Given the description of an element on the screen output the (x, y) to click on. 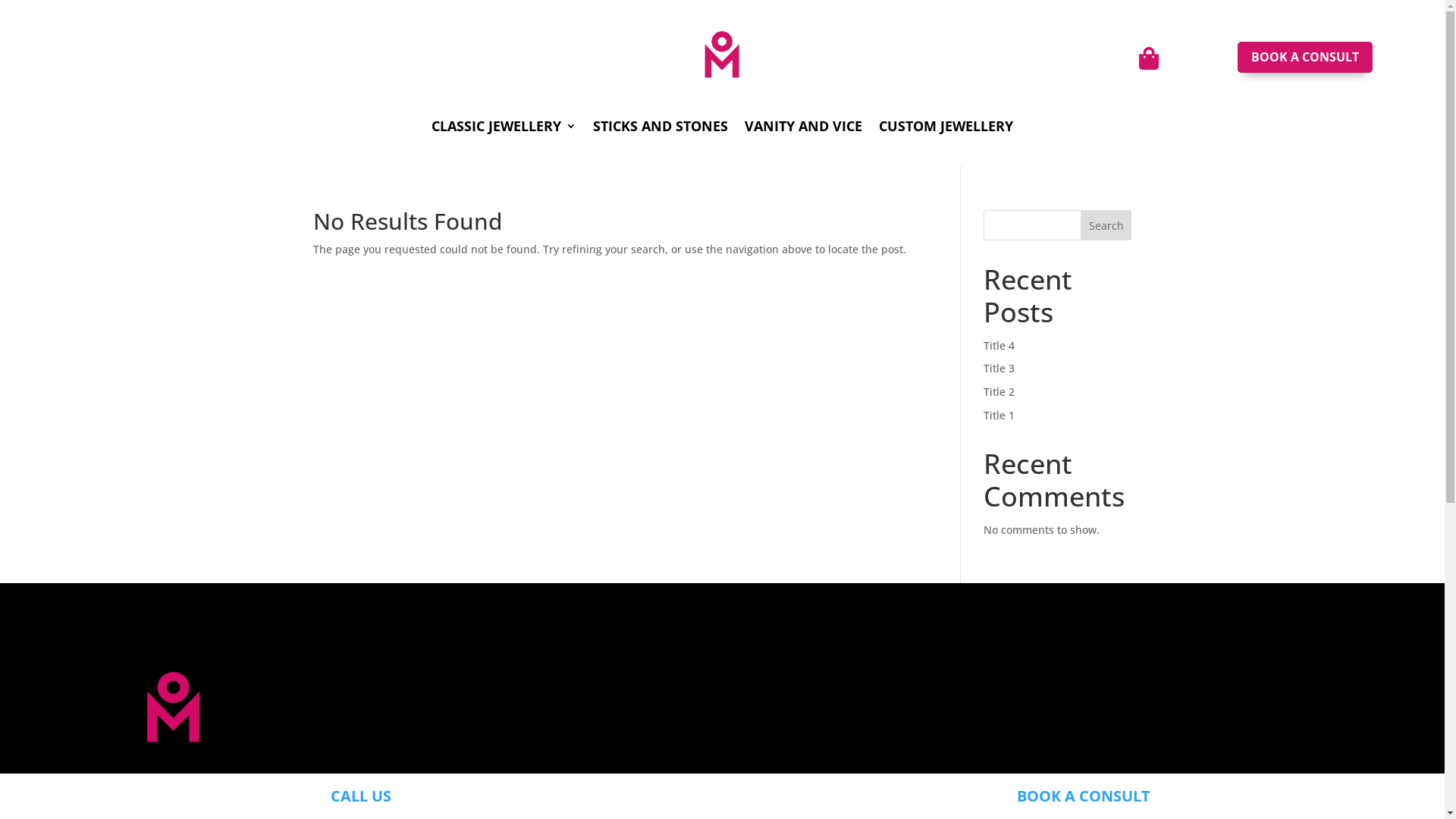
Search Element type: text (1106, 225)
Title 2 Element type: text (998, 391)
CALL US Element type: text (361, 796)
CUSTOM JEWELLERY Element type: text (945, 128)
Title 3 Element type: text (998, 367)
BOOK A CONSULT Element type: text (1304, 56)
Title 1 Element type: text (998, 414)
BOOK A CONSULT Element type: text (1082, 796)
VANITY AND VICE Element type: text (803, 128)
Title 4 Element type: text (998, 345)
STICKS AND STONES Element type: text (660, 128)
CLASSIC JEWELLERY Element type: text (503, 128)
